Given the description of an element on the screen output the (x, y) to click on. 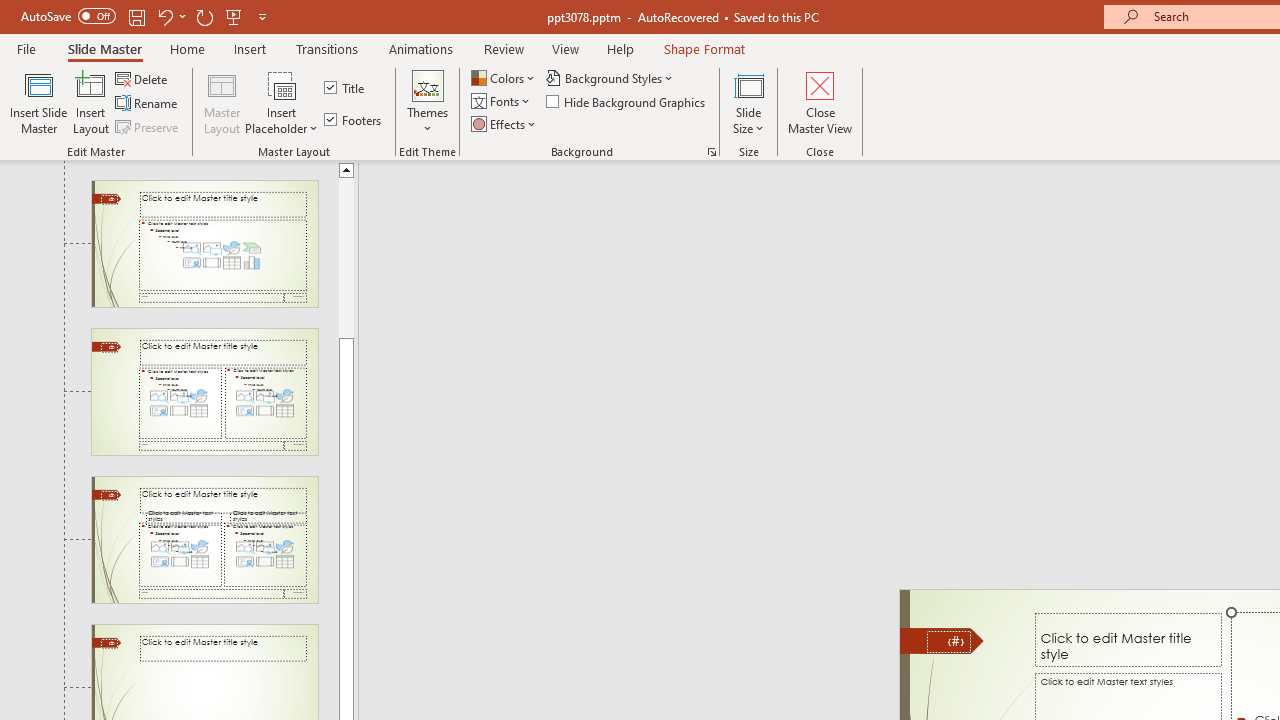
Effects (505, 124)
Preserve (148, 126)
Rename (148, 103)
